Given the description of an element on the screen output the (x, y) to click on. 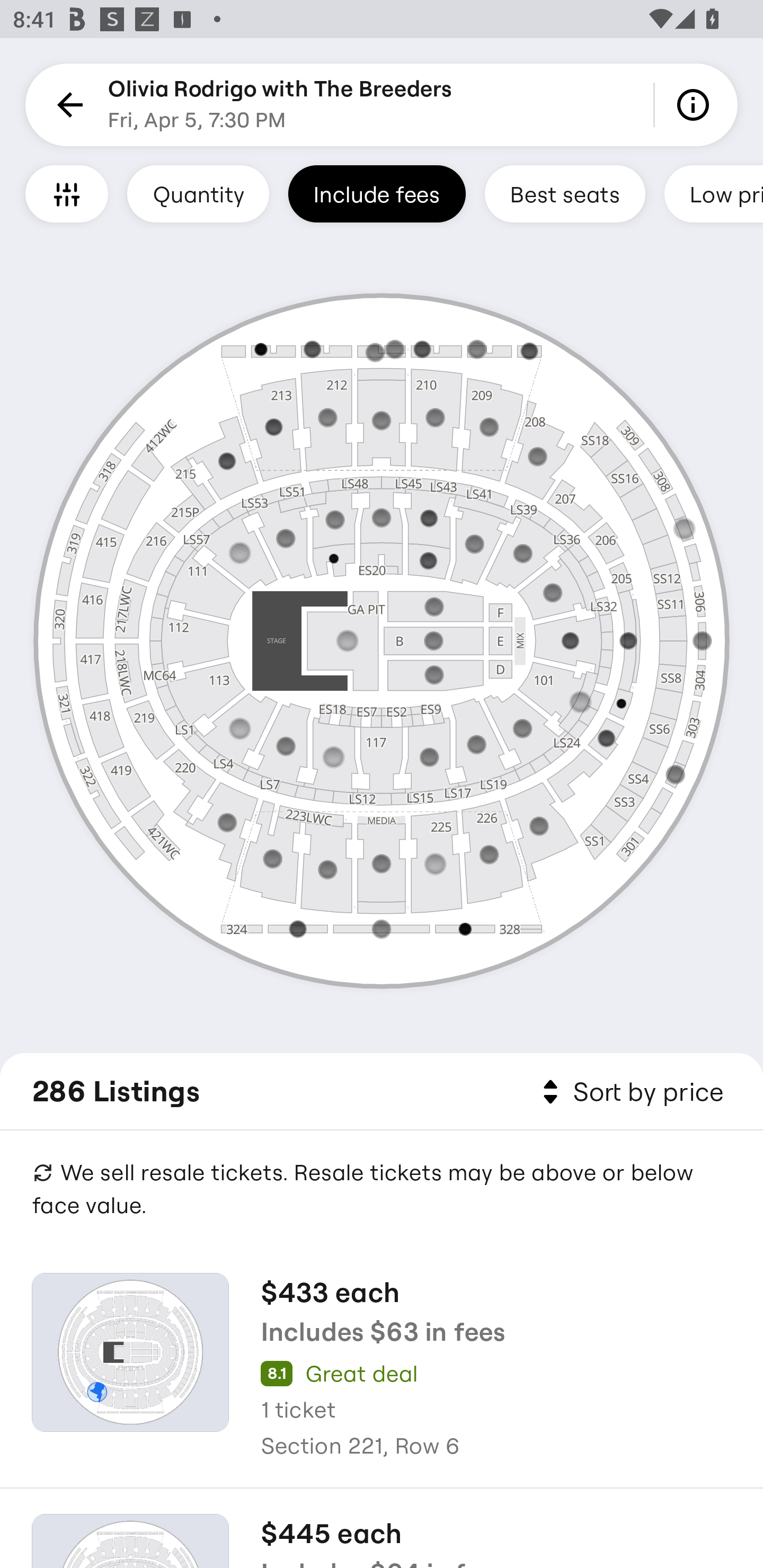
Back (66, 104)
Info (695, 104)
Filters and Accessible Seating (66, 193)
Quantity (198, 193)
Include fees (376, 193)
Best seats (564, 193)
Sort by price (629, 1091)
